Given the description of an element on the screen output the (x, y) to click on. 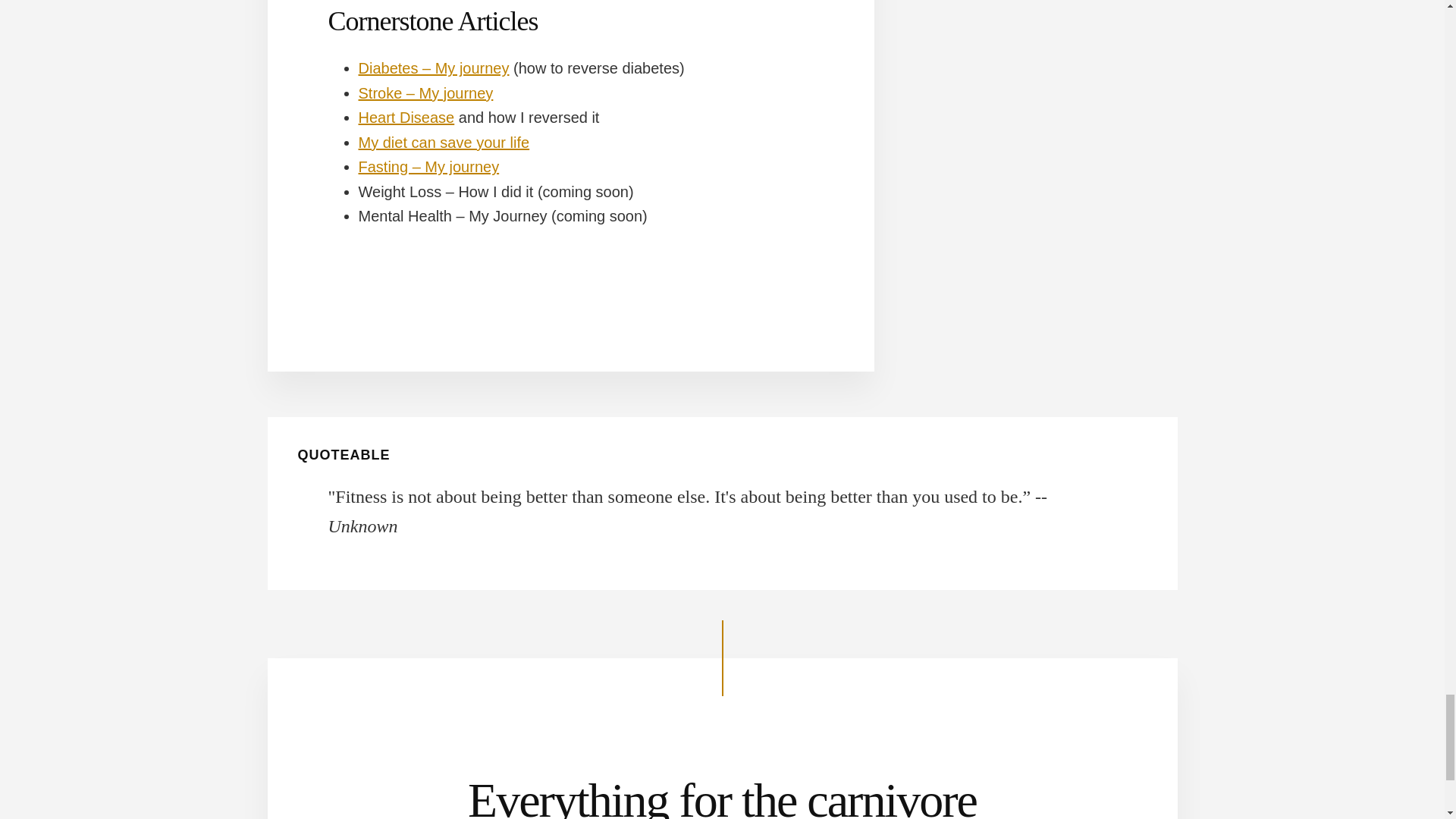
My diet can save your life (443, 142)
Heart Disease (406, 117)
